Given the description of an element on the screen output the (x, y) to click on. 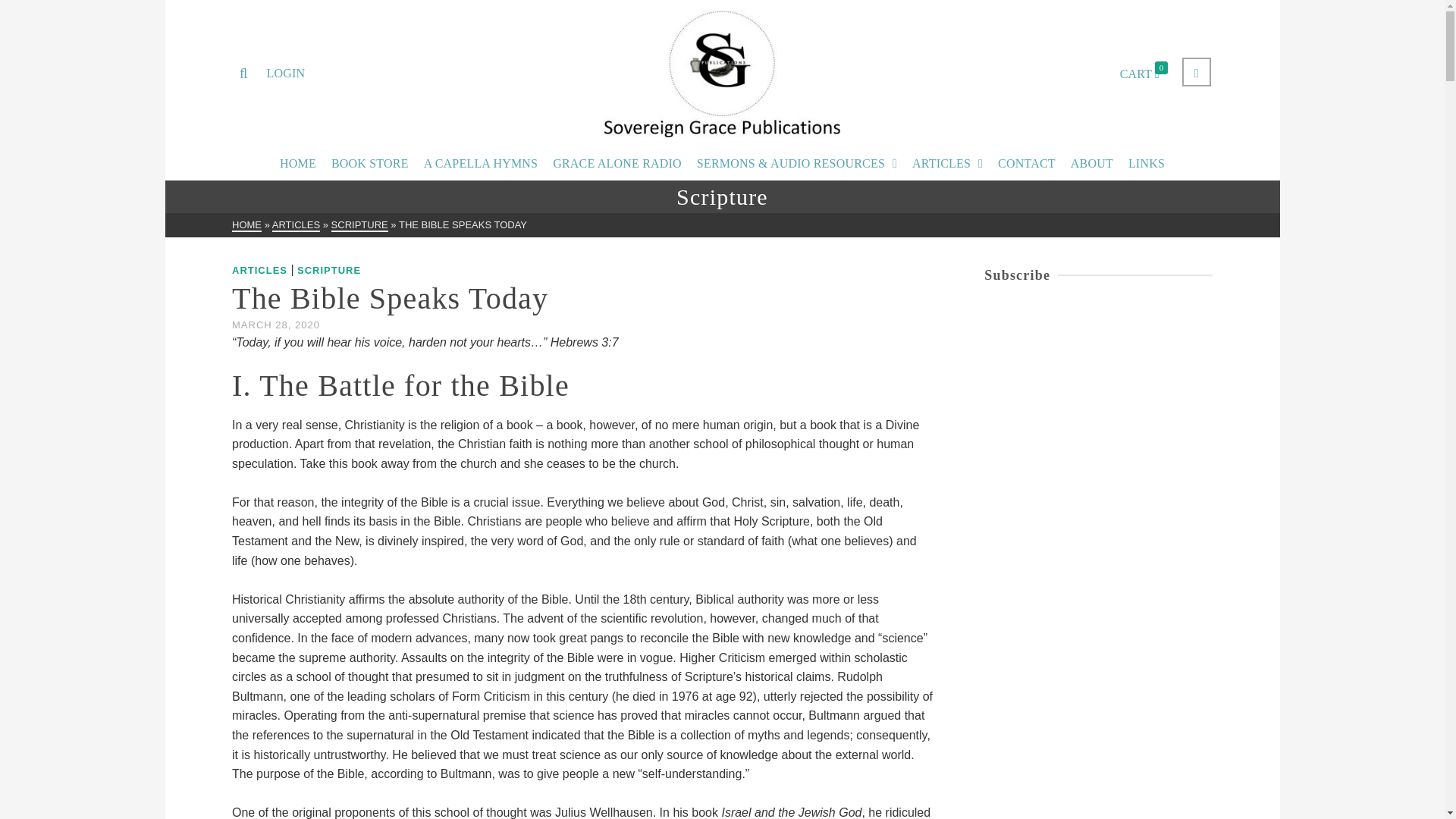
LOGIN (286, 73)
GRACE ALONE RADIO (616, 163)
A CAPELLA HYMNS (481, 163)
CART 0 (1146, 73)
ARTICLES (947, 163)
ARTICLES (258, 270)
ARTICLES (296, 225)
SCRIPTURE (359, 225)
BOOK STORE (369, 163)
ABOUT (1091, 163)
